Given the description of an element on the screen output the (x, y) to click on. 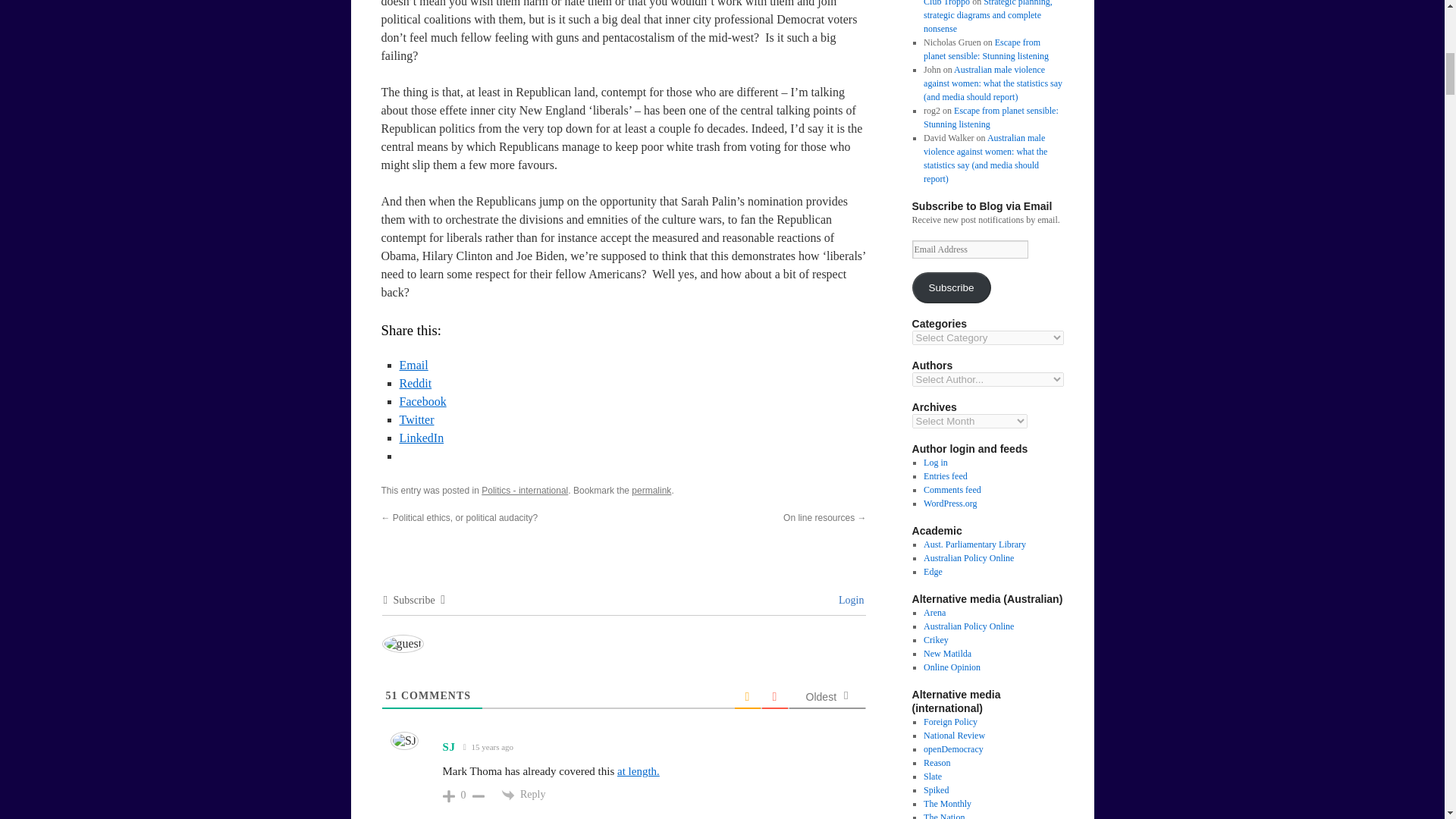
Click to share on Facebook (421, 400)
Login (849, 600)
Email (413, 364)
Click to share on Reddit (414, 382)
Politics - international (524, 490)
Facebook (421, 400)
Click to share on LinkedIn (421, 437)
Click to email a link to a friend (413, 364)
LinkedIn (421, 437)
Twitter (415, 419)
Reddit (414, 382)
Permalink to Respecting the other (651, 490)
permalink (651, 490)
Click to share on Twitter (415, 419)
